Given the description of an element on the screen output the (x, y) to click on. 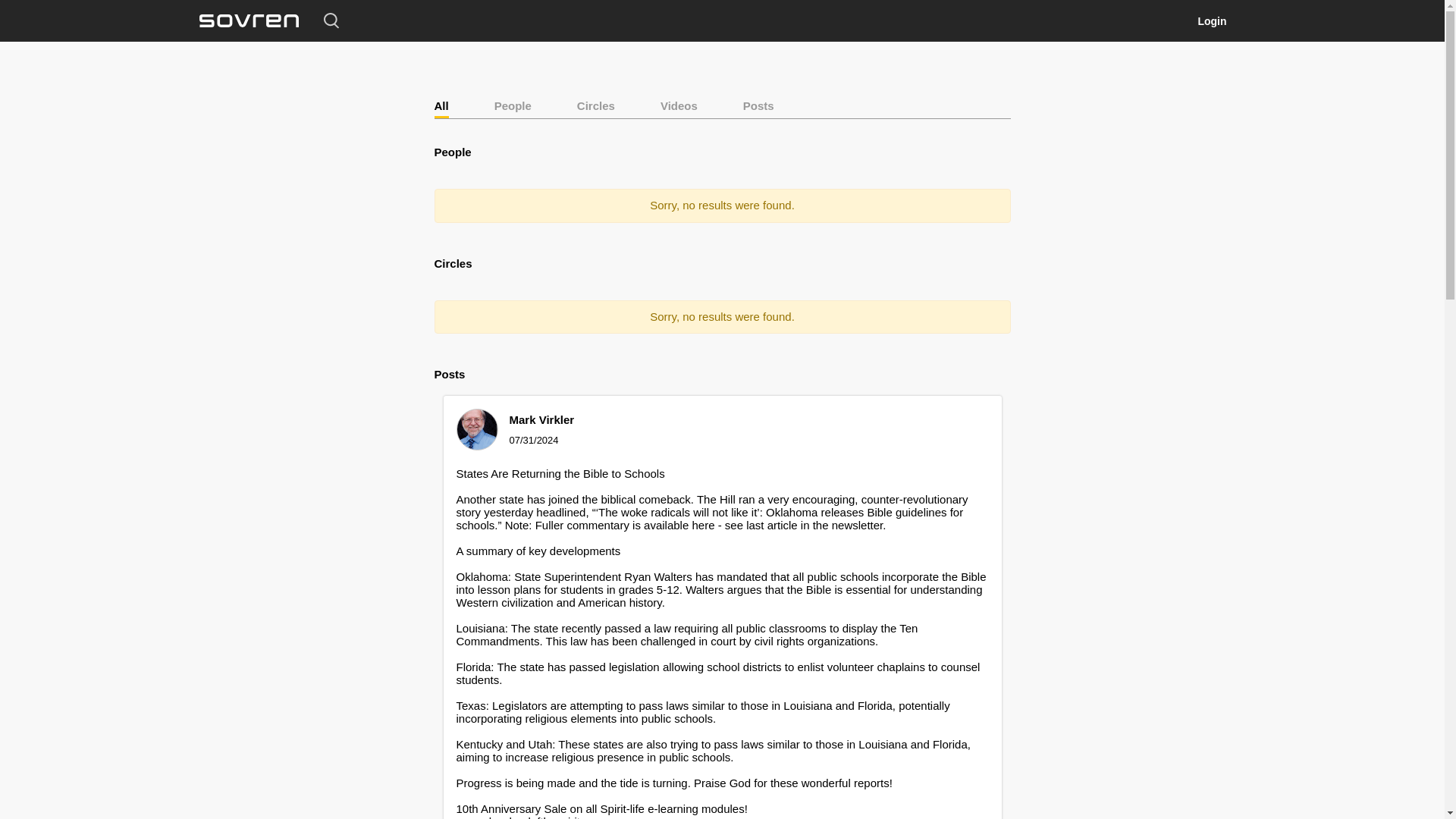
People (513, 105)
Circles (595, 105)
Mark Virkler (542, 419)
Posts (758, 105)
Login (1210, 20)
Login (1210, 20)
sovren.media (248, 20)
All (440, 105)
Videos (679, 105)
